Given the description of an element on the screen output the (x, y) to click on. 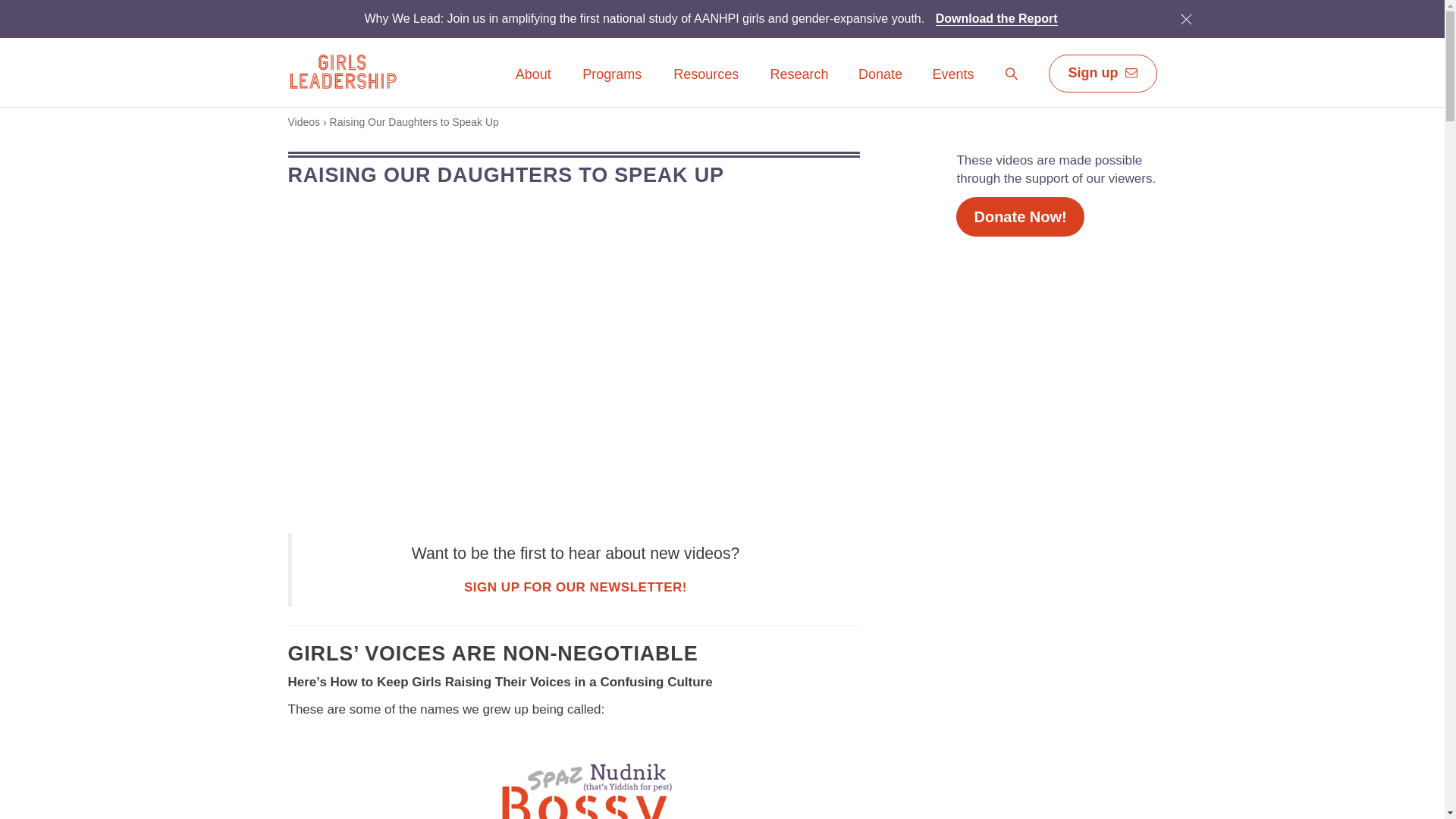
Research (798, 84)
Donate (879, 75)
Girls Leadership (341, 71)
Search (1012, 74)
SIGN UP FOR OUR NEWSLETTER! (575, 586)
A6F524C7-72F2-47B1-896C-2077AF8665D0 (1183, 18)
Videos (304, 121)
Resources (706, 84)
About (533, 84)
SIGN UP FOR OUR NEWSLETTER! (575, 586)
Events (952, 75)
Donate (879, 84)
Research (798, 75)
Programs (611, 84)
A6F524C7-72F2-47B1-896C-2077AF8665D0 (1185, 18)
